Given the description of an element on the screen output the (x, y) to click on. 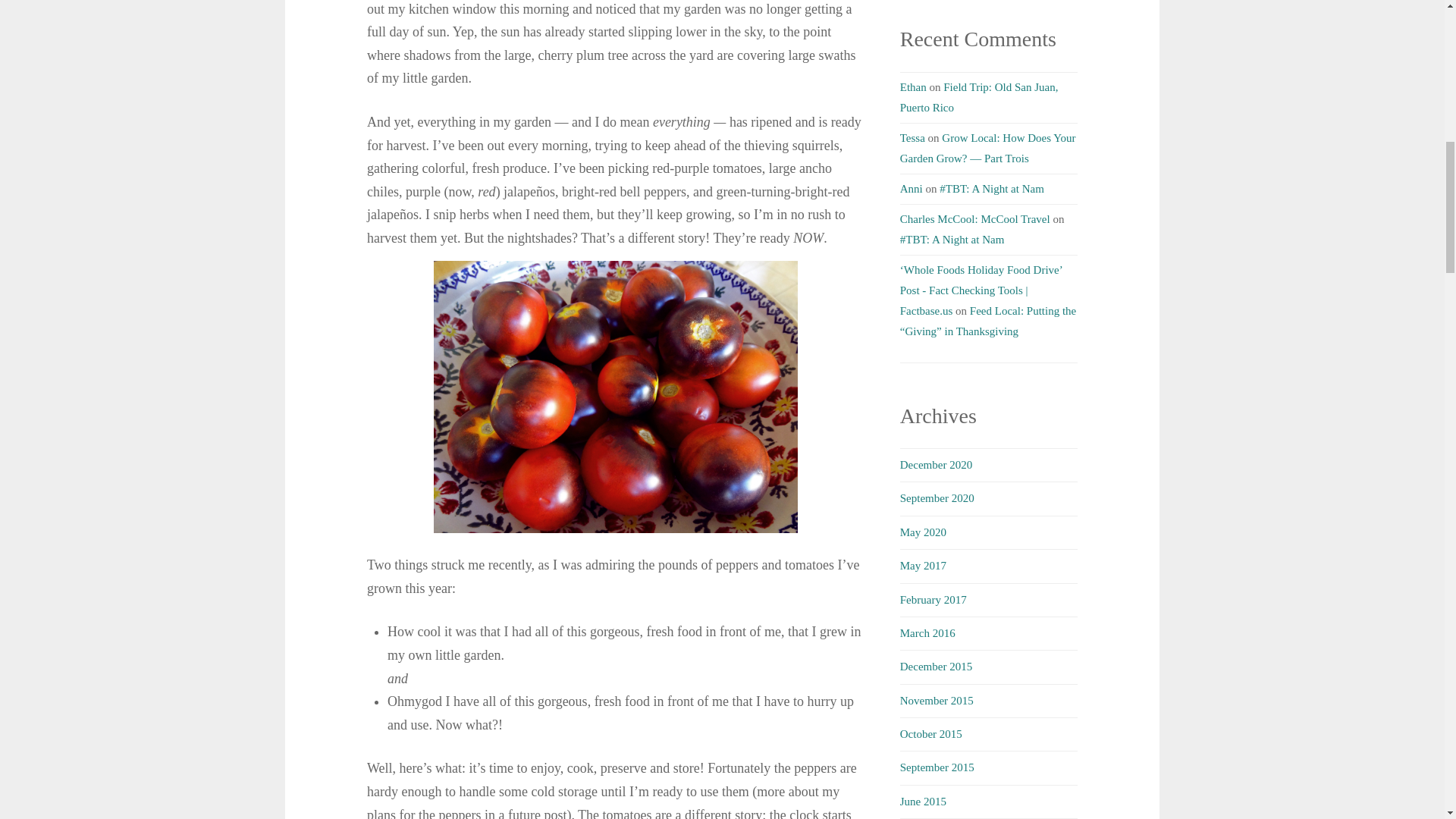
Anni (911, 188)
Tessa (911, 137)
Field Trip: Old San Juan, Puerto Rico (978, 97)
Ethan (912, 87)
